Given the description of an element on the screen output the (x, y) to click on. 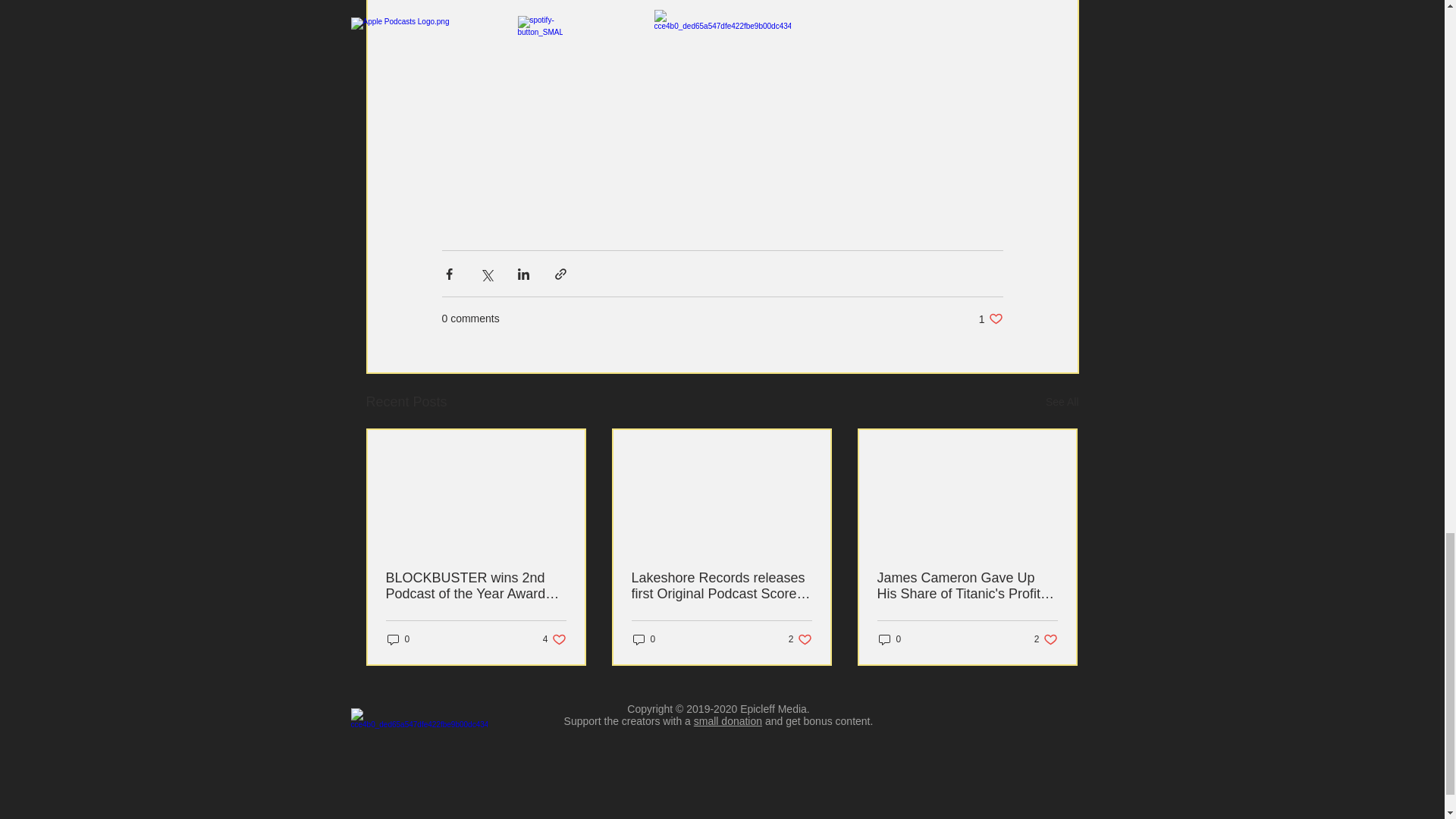
0 (643, 639)
Facebook Like (990, 318)
Twitter Follow (967, 757)
small donation (834, 749)
See All (1045, 639)
BLOCKBUSTER wins 2nd Podcast of the Year Award from Adweek (800, 639)
0 (727, 720)
0 (554, 639)
